Given the description of an element on the screen output the (x, y) to click on. 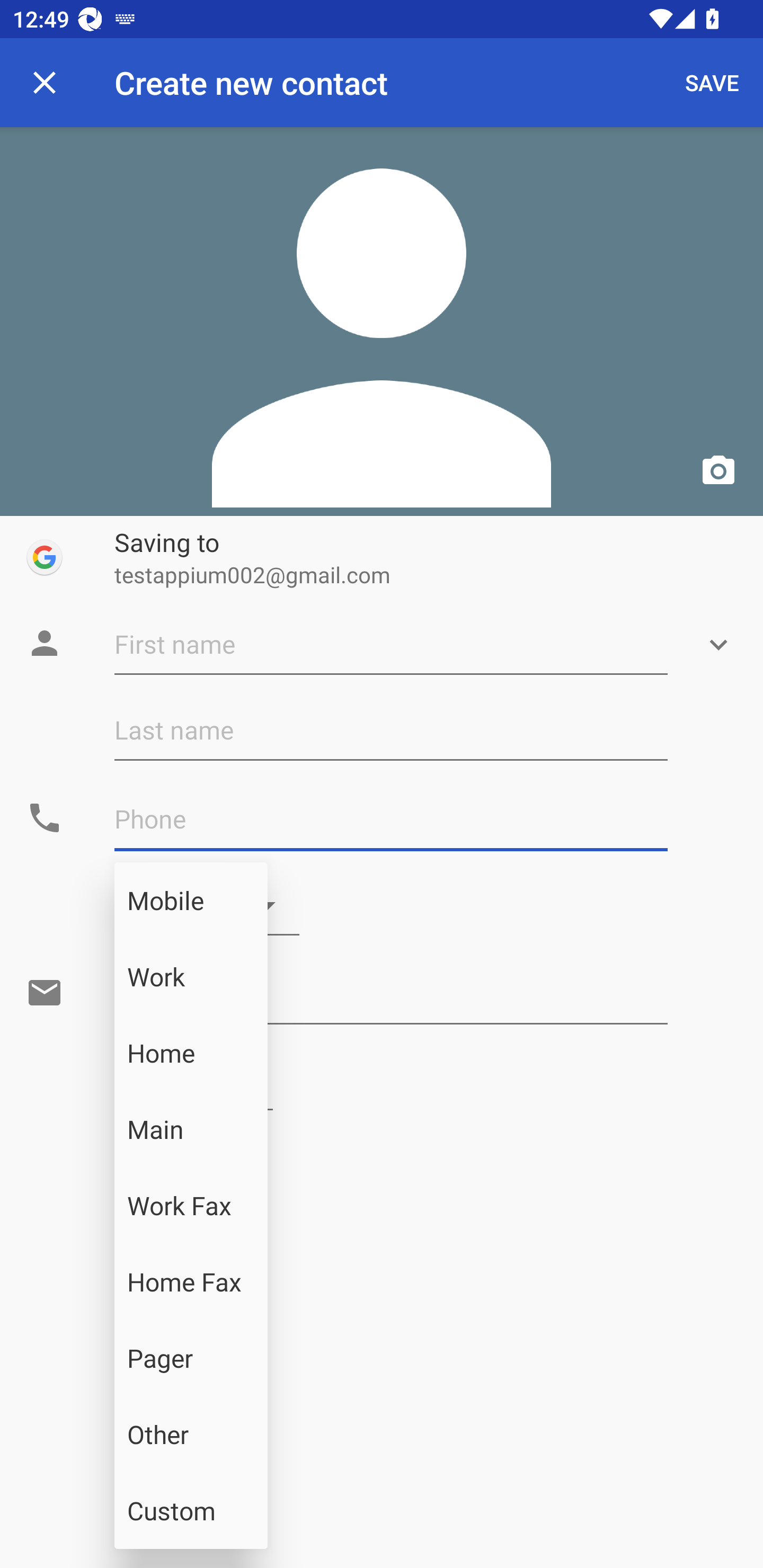
Mobile (190, 900)
Work (190, 976)
Home (190, 1052)
Main (190, 1129)
Work Fax (190, 1205)
Home Fax (190, 1281)
Pager (190, 1358)
Other (190, 1434)
Custom (190, 1510)
